Given the description of an element on the screen output the (x, y) to click on. 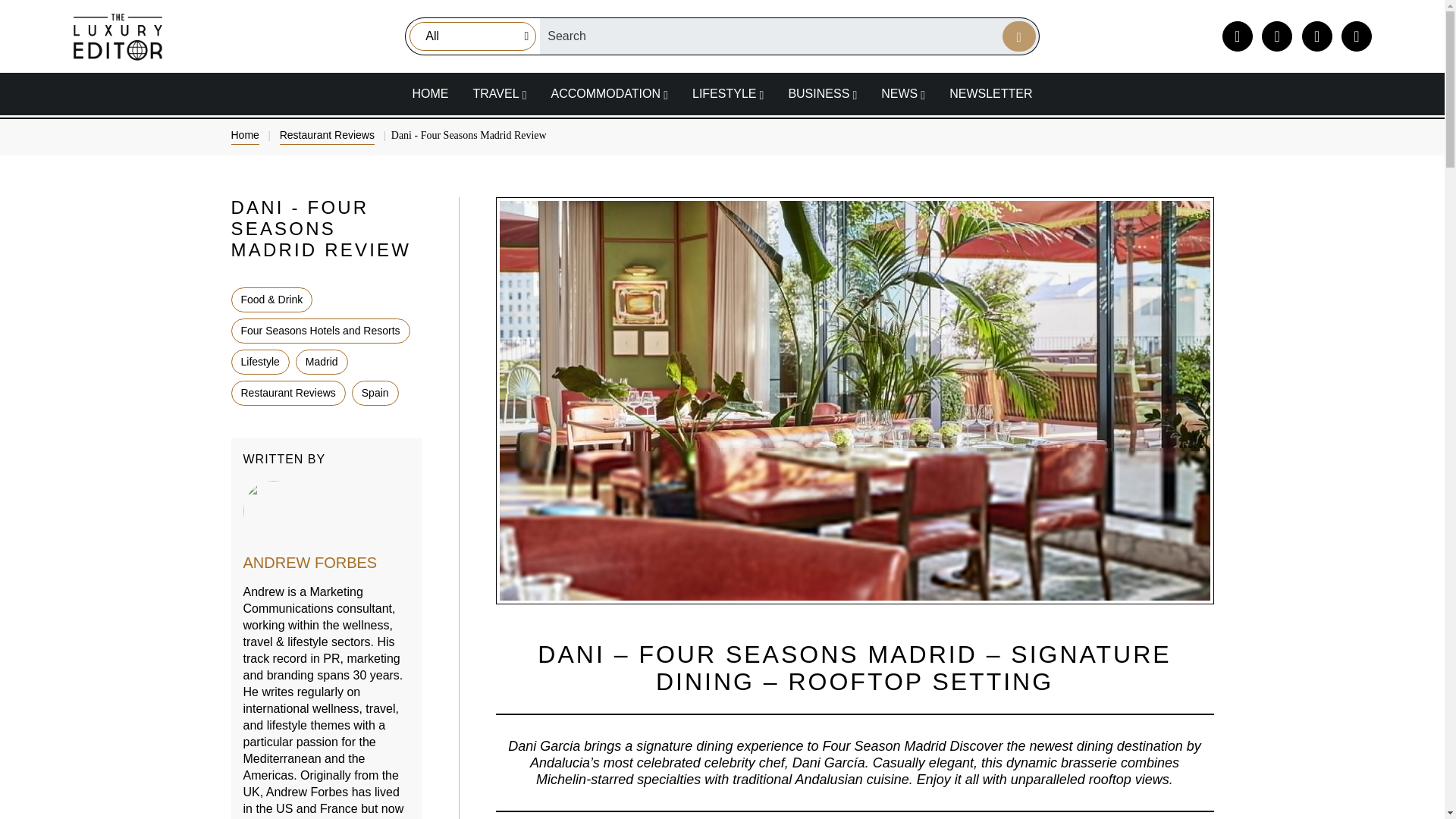
News (903, 93)
Accommodation (608, 93)
TRAVEL (499, 93)
Newsletter (990, 93)
Home (429, 93)
Lifestyle (727, 93)
Business (822, 93)
Travel (499, 93)
HOME (429, 93)
